Given the description of an element on the screen output the (x, y) to click on. 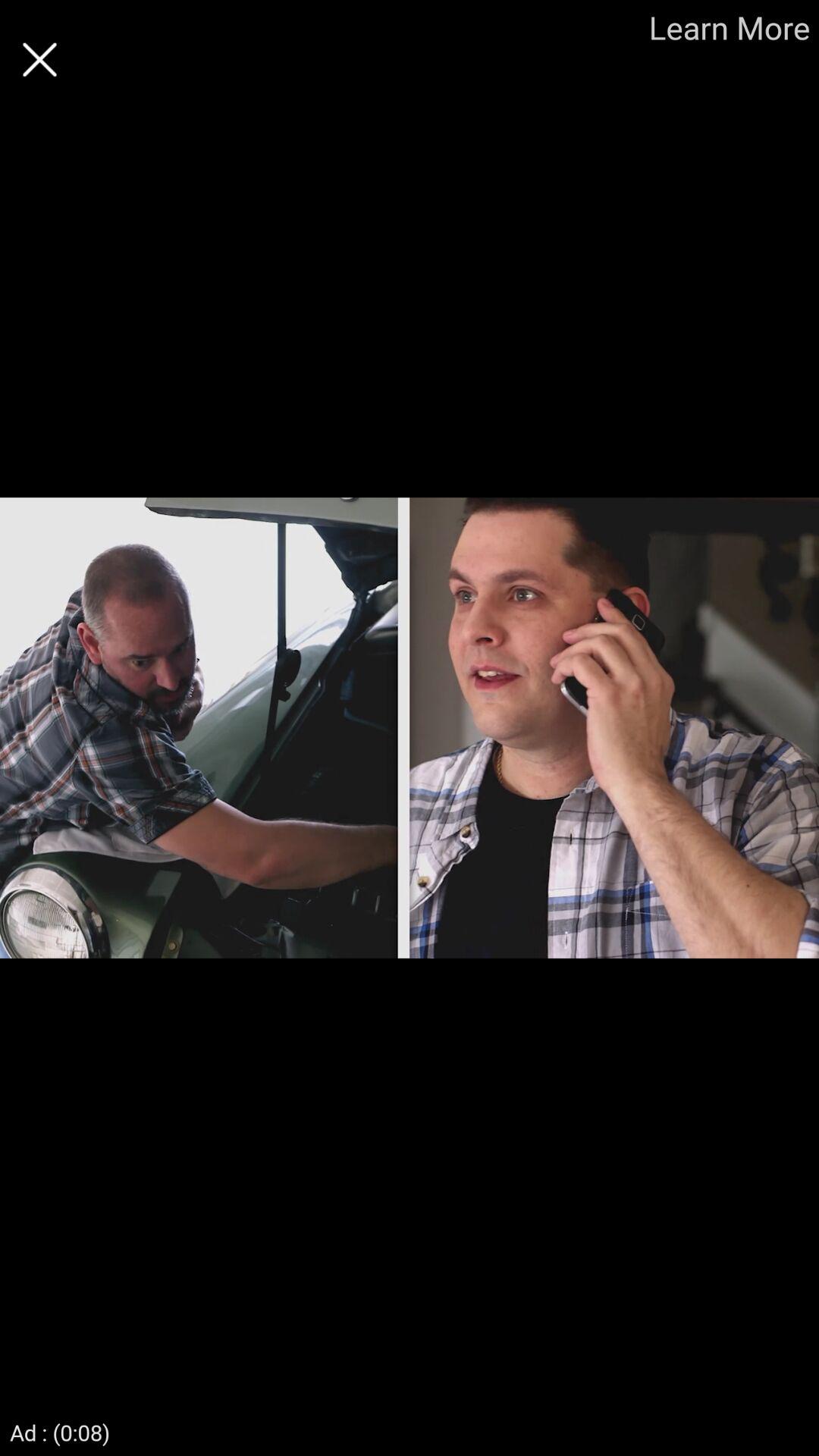
click to exit (39, 59)
